Given the description of an element on the screen output the (x, y) to click on. 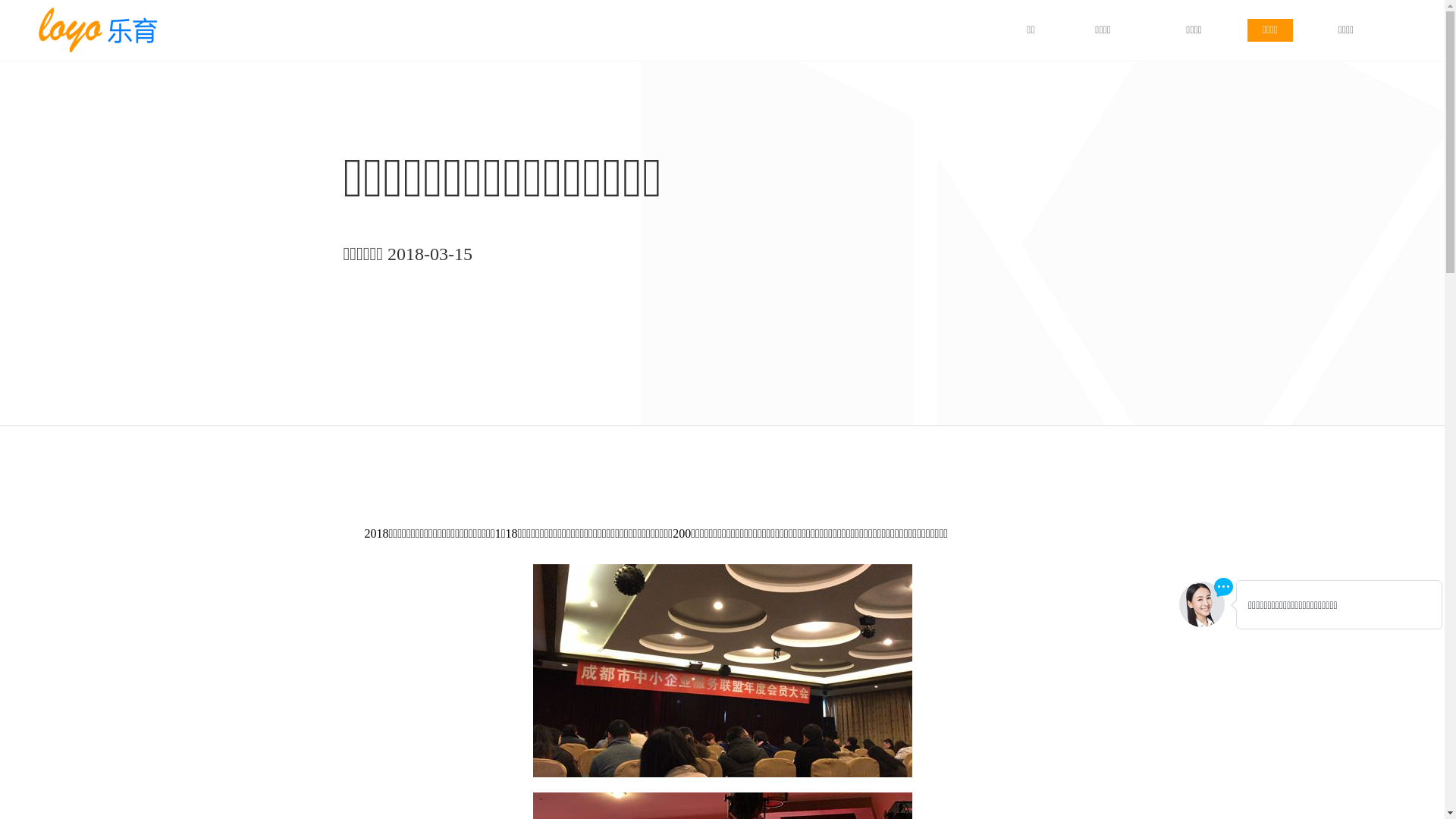
1530172022911297.jpg Element type: hover (721, 670)
